Given the description of an element on the screen output the (x, y) to click on. 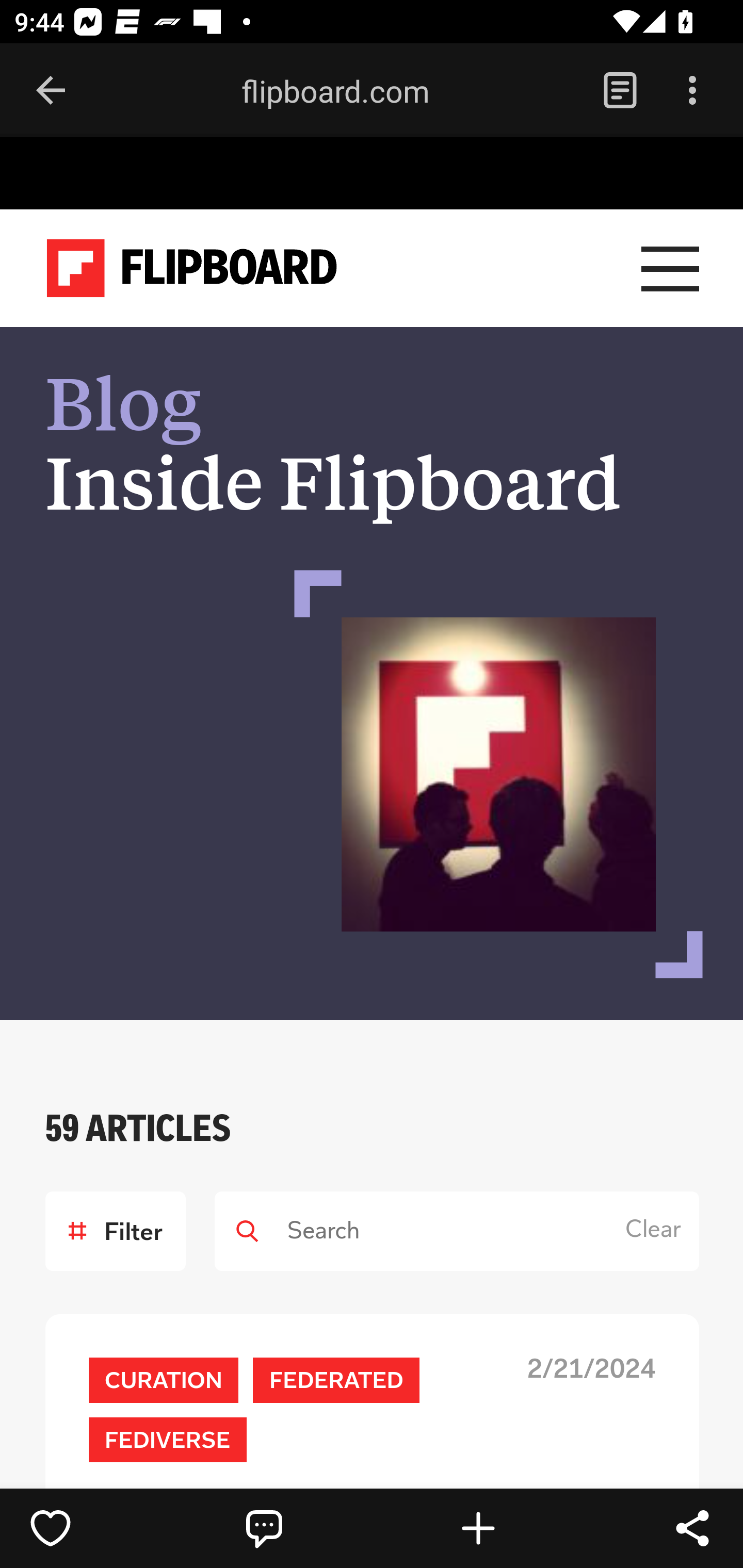
Back (50, 90)
Reader View (619, 90)
Options (692, 90)
Flipboard Logo (192, 268)
 Filter (115, 1231)
Clear (656, 1230)
CURATION (162, 1380)
FEDERATED (336, 1380)
FEDIVERSE (166, 1439)
Like (93, 1528)
Write a comment… (307, 1528)
Flip into Magazine (521, 1528)
Share (692, 1528)
